Given the description of an element on the screen output the (x, y) to click on. 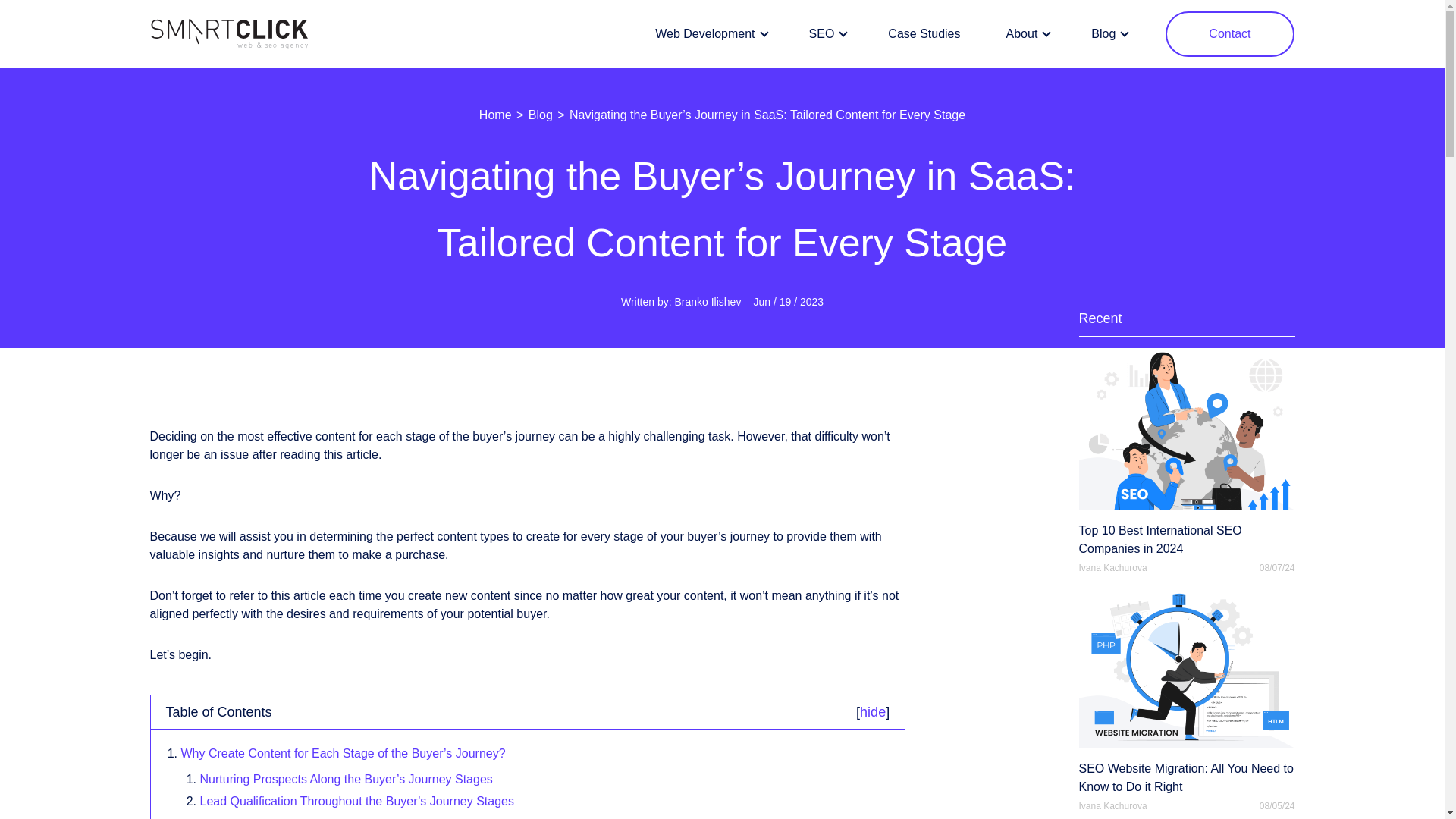
Top 10 Best International SEO Companies in 2024 (1186, 452)
Web Development (708, 34)
About (1026, 34)
SEO (826, 34)
Blog (540, 114)
hide (872, 711)
Case Studies (923, 34)
Blog (1106, 34)
SEO (826, 34)
Web Development (708, 34)
